Given the description of an element on the screen output the (x, y) to click on. 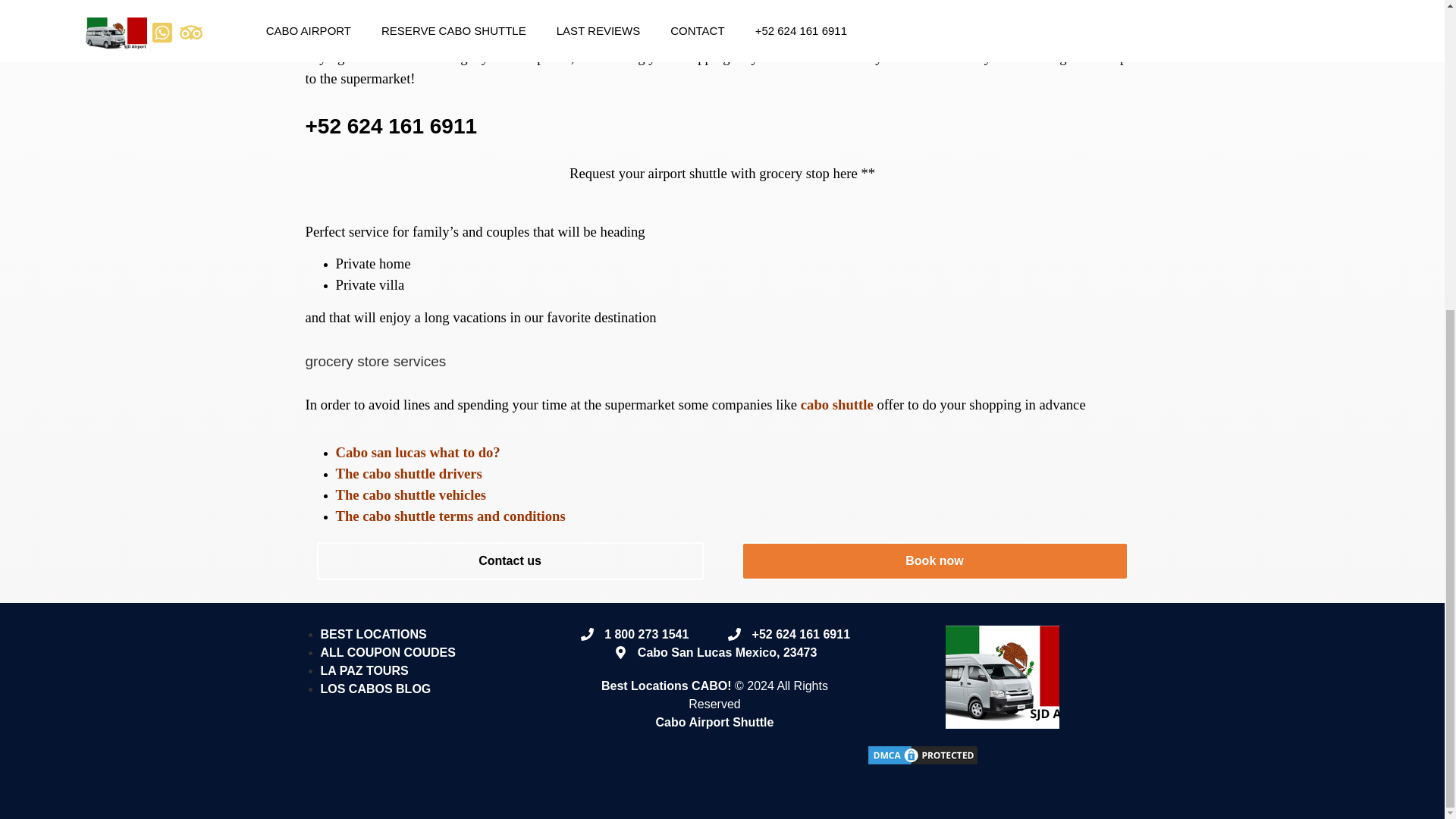
The cabo shuttle vehicles (409, 494)
Book now (934, 560)
ALL COUPON COUDES (387, 652)
LOS CABOS BLOG (375, 688)
cabo shuttle (836, 404)
LA PAZ TOURS (363, 670)
Contact us (510, 560)
The cabo shuttle terms and conditions (449, 515)
The cabo shuttle drivers (407, 473)
DMCA.com Protection Status (922, 762)
